Given the description of an element on the screen output the (x, y) to click on. 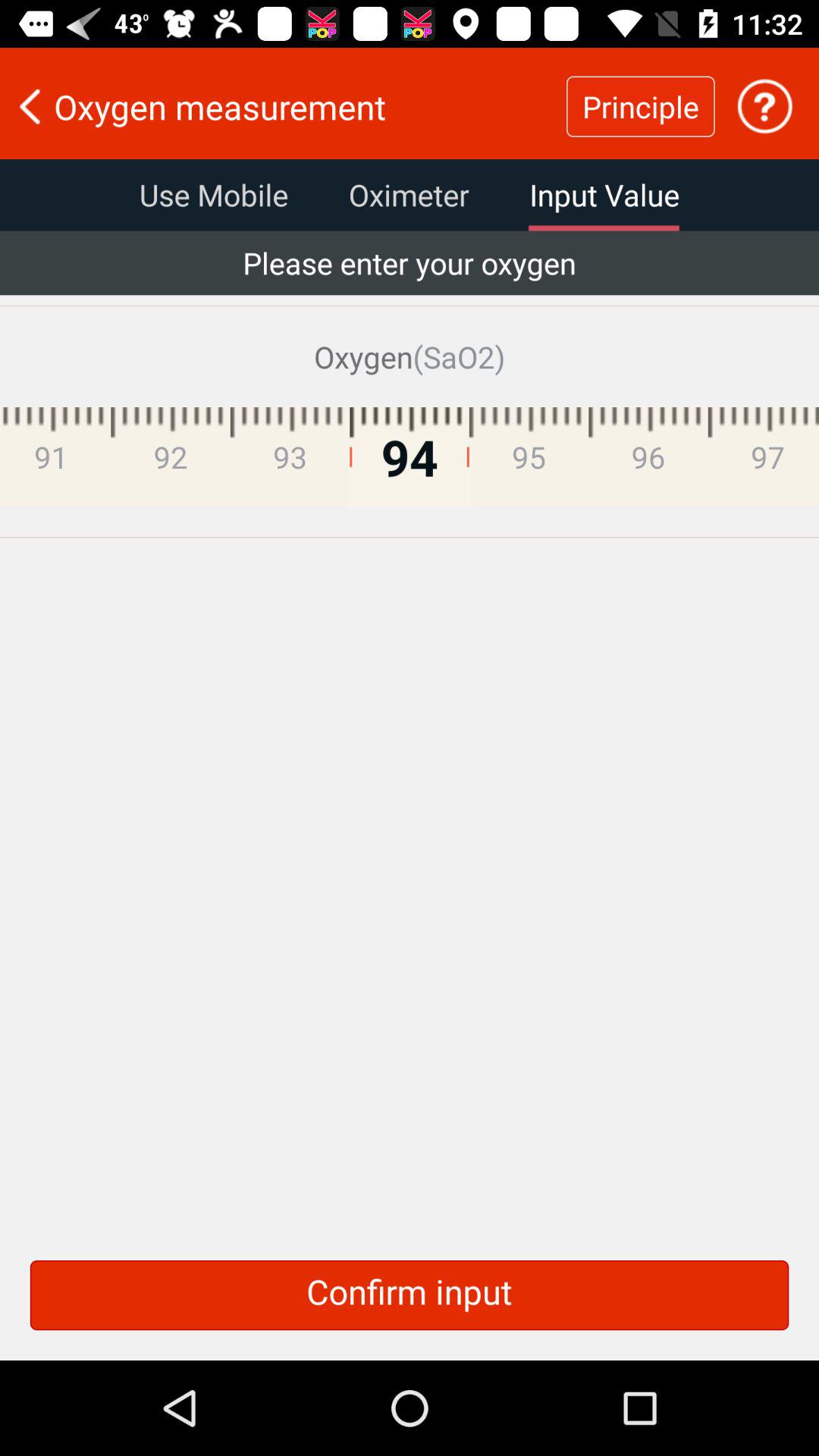
open the item to the left of oximeter item (213, 194)
